Given the description of an element on the screen output the (x, y) to click on. 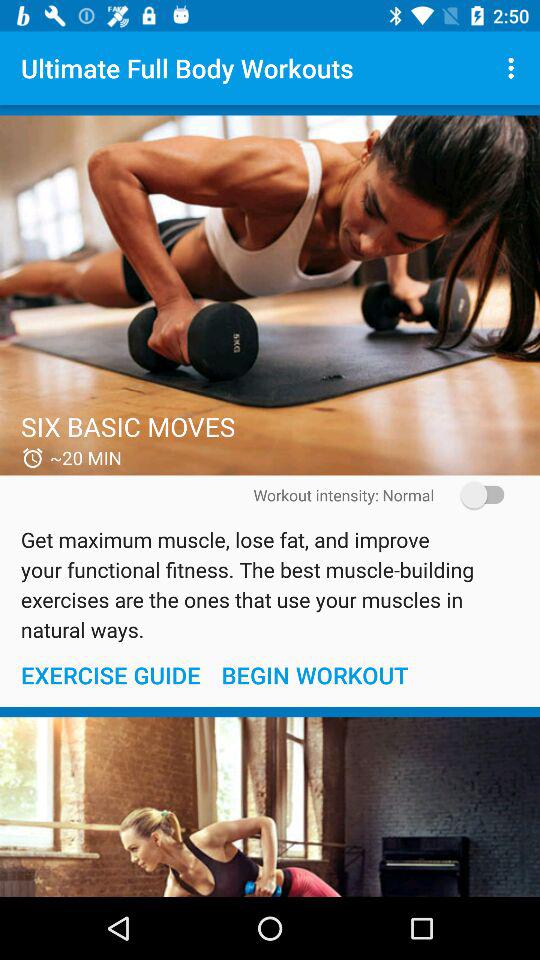
swipe to the exercise guide item (110, 674)
